Given the description of an element on the screen output the (x, y) to click on. 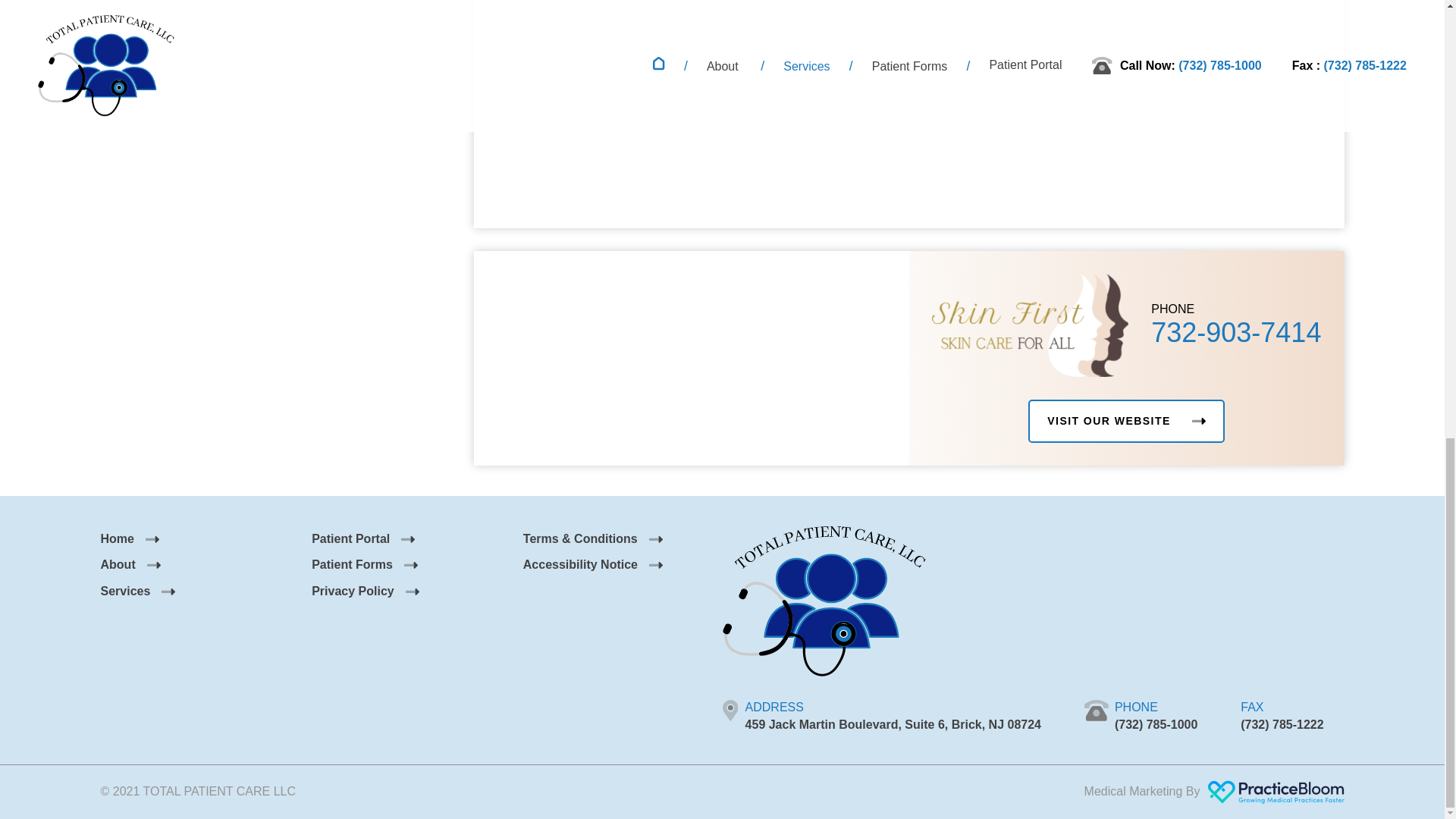
Patient Portal (362, 538)
VISIT OUR WEBSITE (1125, 421)
About (130, 563)
Services (137, 590)
Medical Marketing By (1213, 791)
Patient Forms (364, 563)
Privacy Policy (365, 590)
732-903-7414 (1235, 332)
Accessibility Notice (592, 563)
Home (129, 538)
